Given the description of an element on the screen output the (x, y) to click on. 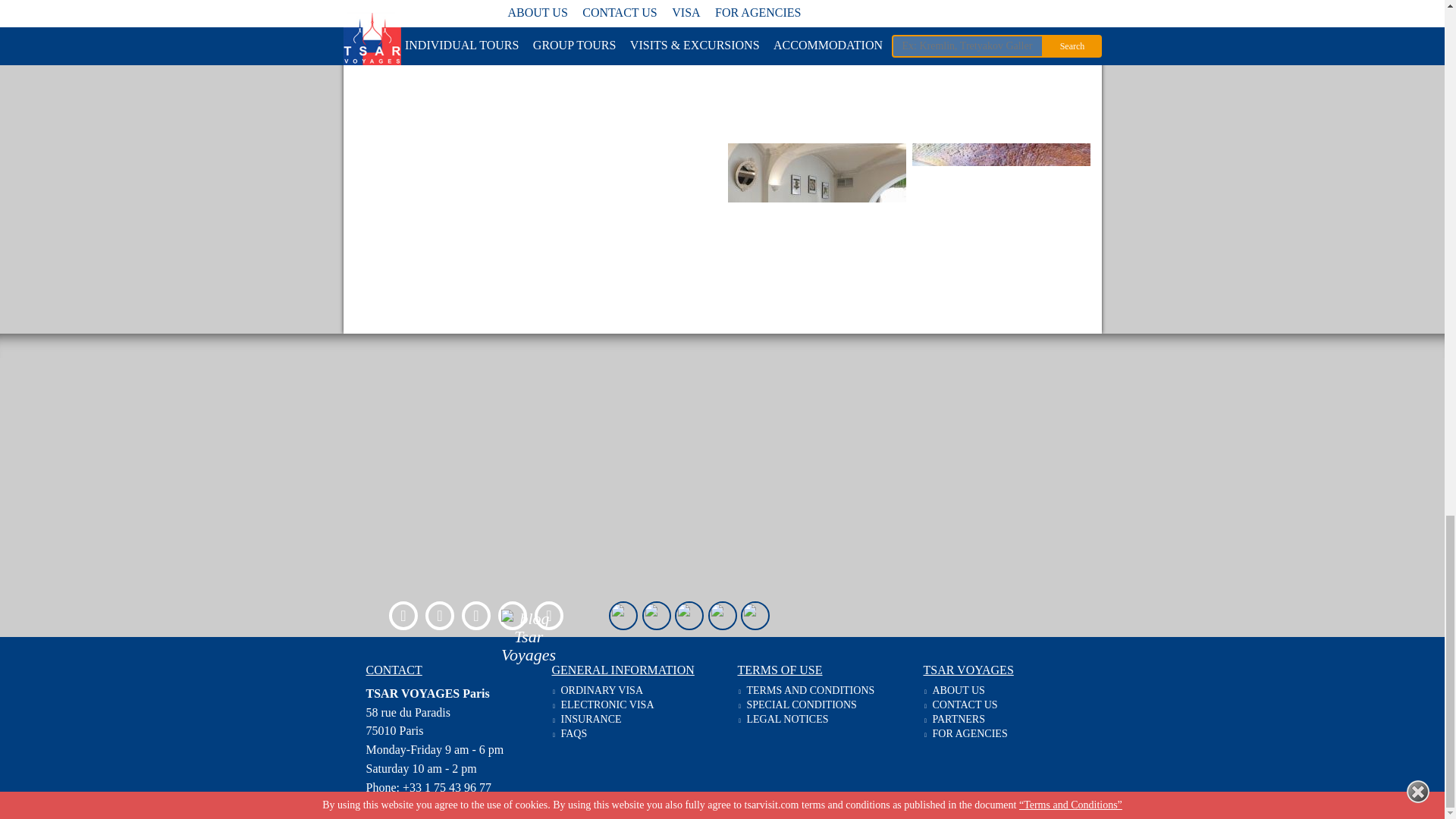
Rossi (1000, 68)
Rossi (816, 214)
